Given the description of an element on the screen output the (x, y) to click on. 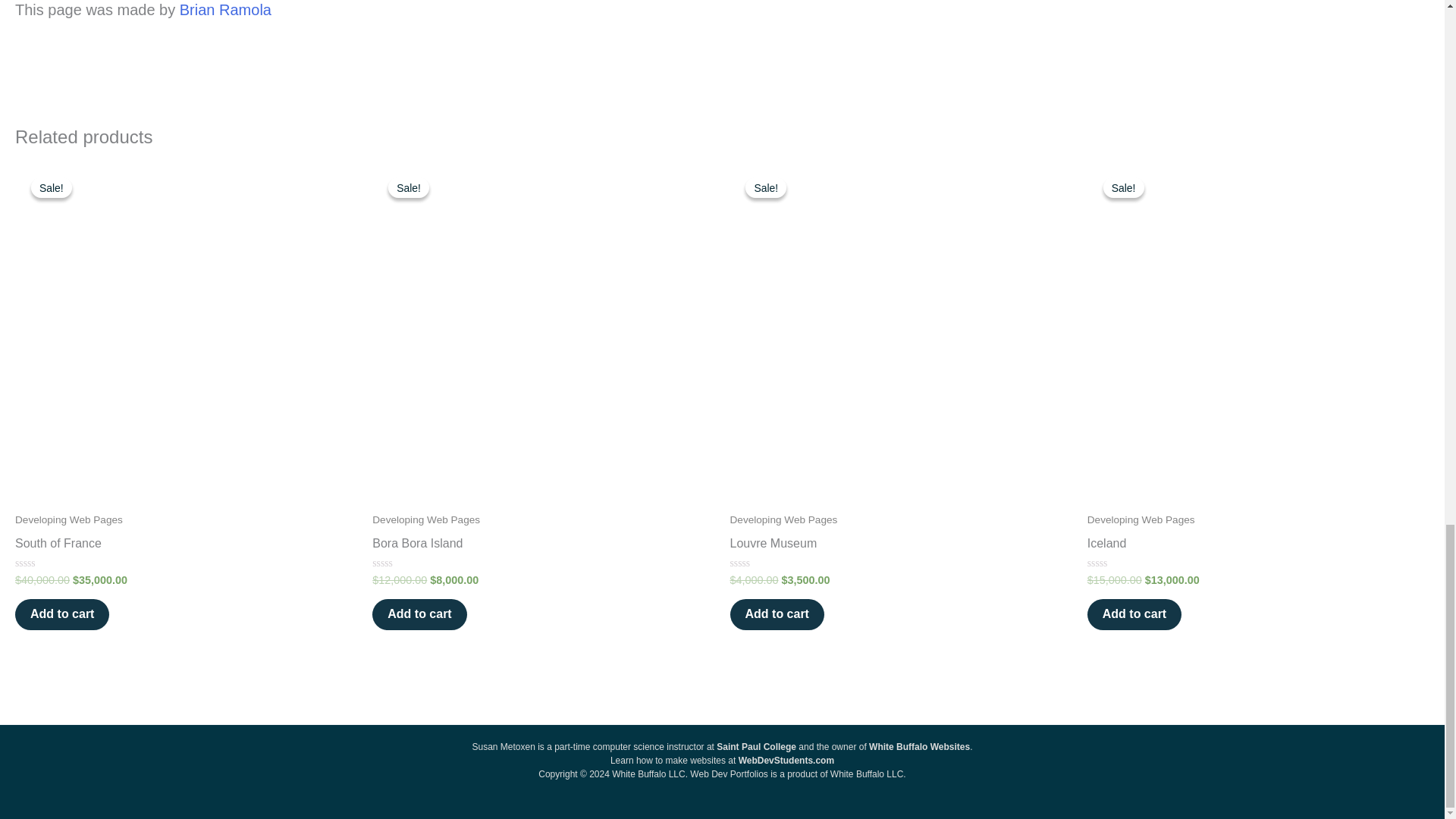
Add to cart (776, 613)
Bora Bora Island (543, 546)
Brian Ramola (224, 9)
Add to cart (61, 613)
Add to cart (1133, 613)
Iceland (1258, 546)
South of France (185, 546)
Add to cart (418, 613)
Louvre Museum (900, 546)
Saint Paul College (756, 747)
